Given the description of an element on the screen output the (x, y) to click on. 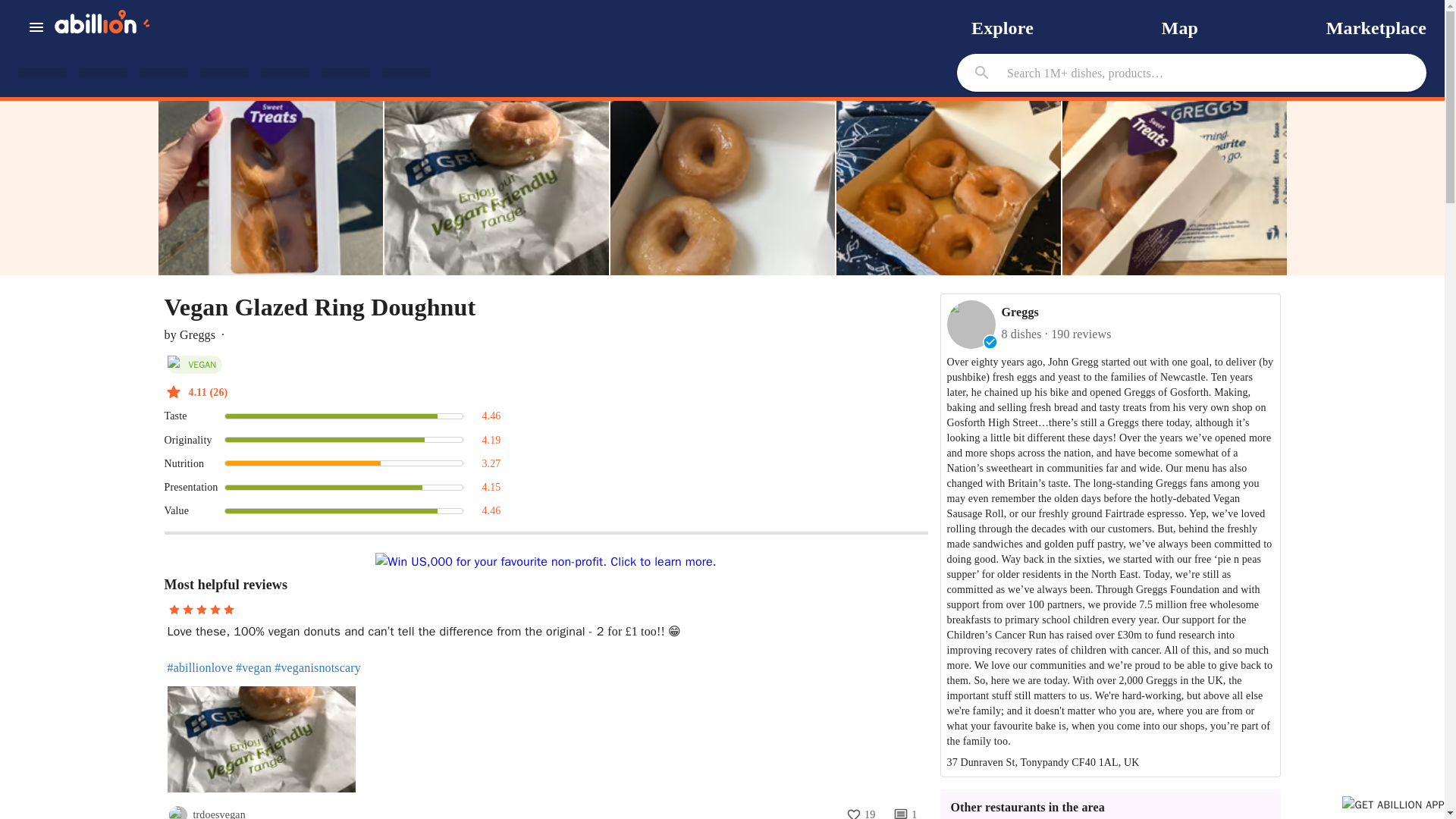
Marketplace (1376, 27)
trdoesvegan (218, 814)
1 (904, 809)
19 (860, 809)
Map (1179, 27)
Explore (1002, 27)
by Greggs (189, 334)
